Given the description of an element on the screen output the (x, y) to click on. 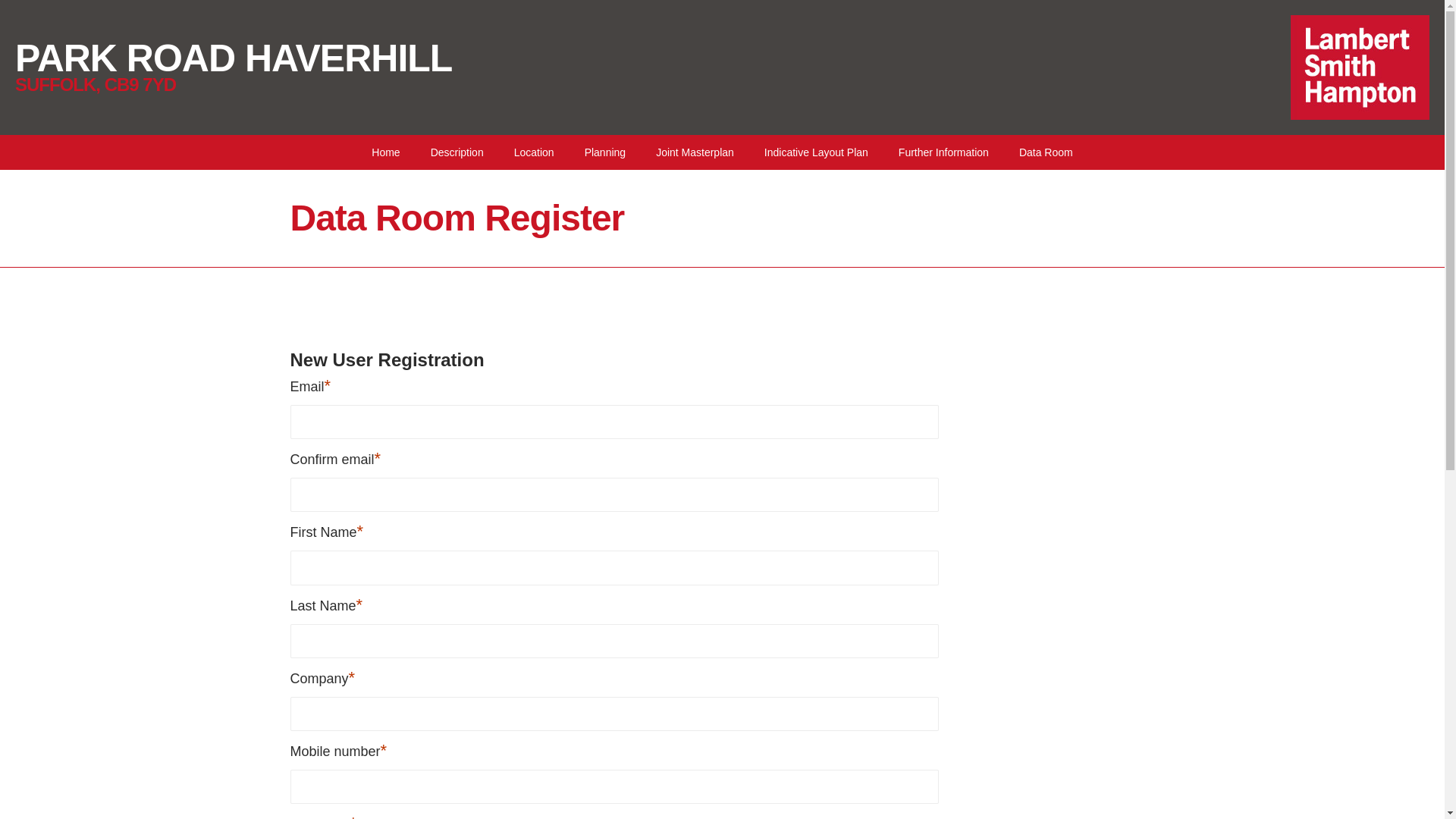
Home (385, 152)
Data Room (1045, 152)
Joint Masterplan (694, 152)
Description (456, 152)
Location (534, 152)
logo (1359, 67)
Planning (605, 152)
Indicative Layout Plan (816, 152)
Further Information (943, 152)
